Given the description of an element on the screen output the (x, y) to click on. 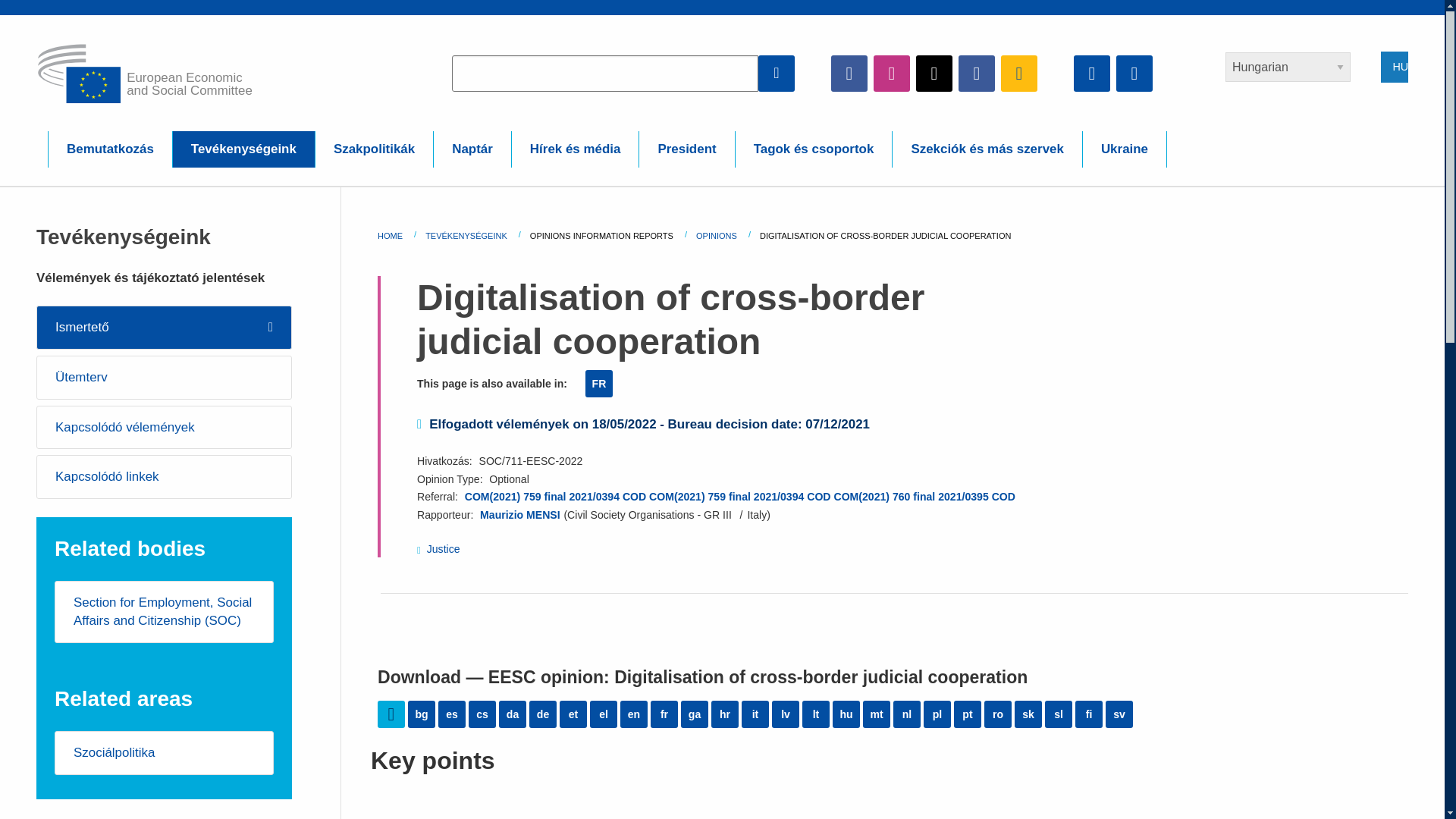
Apply (776, 72)
